Given the description of an element on the screen output the (x, y) to click on. 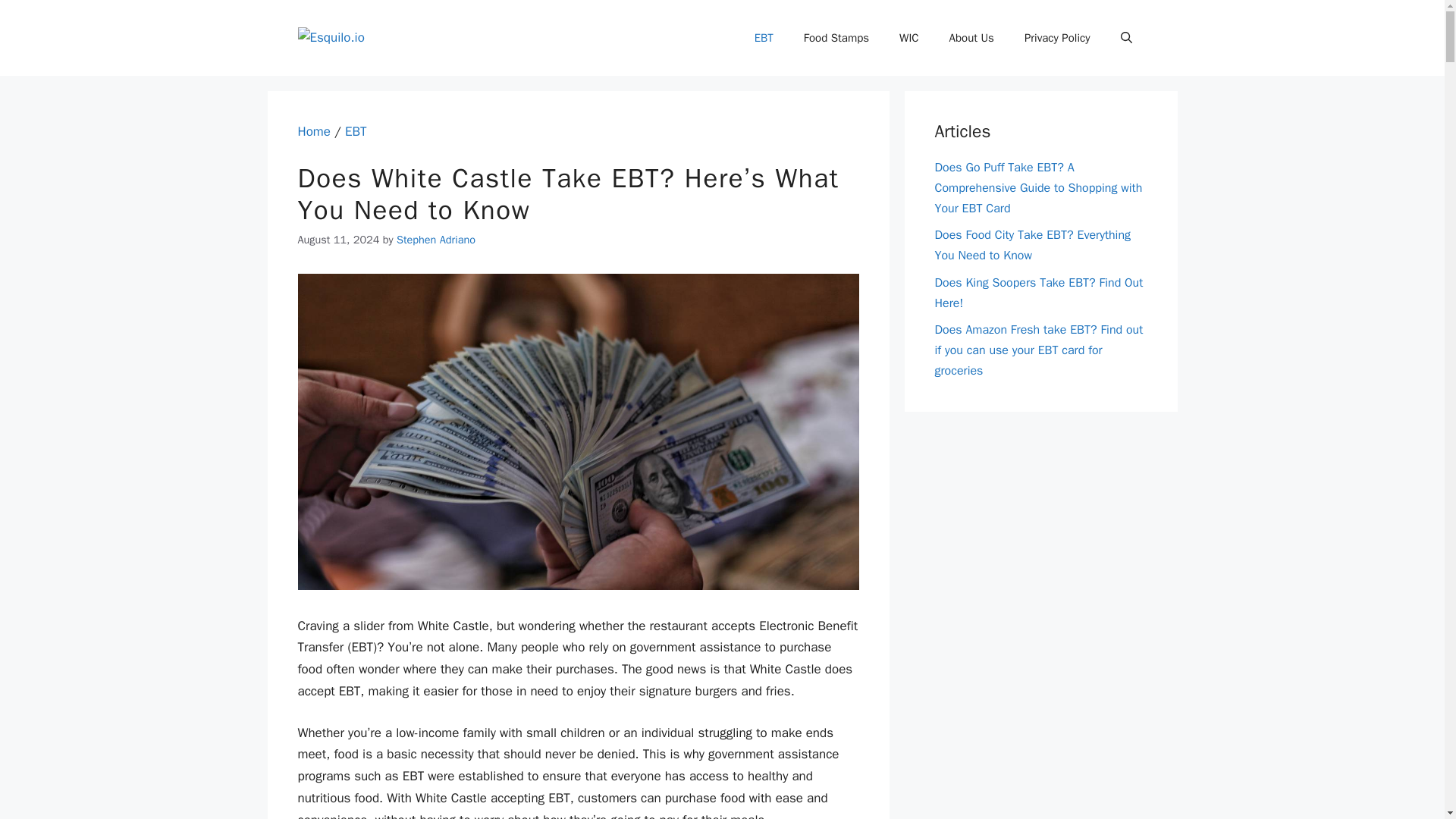
Home (313, 131)
View all posts by Stephen Adriano (436, 239)
About Us (971, 37)
WIC (908, 37)
Privacy Policy (1057, 37)
Does Food City Take EBT? Everything You Need to Know (1032, 244)
Does King Soopers Take EBT? Find Out Here! (1038, 293)
EBT (764, 37)
Food Stamps (836, 37)
